Given the description of an element on the screen output the (x, y) to click on. 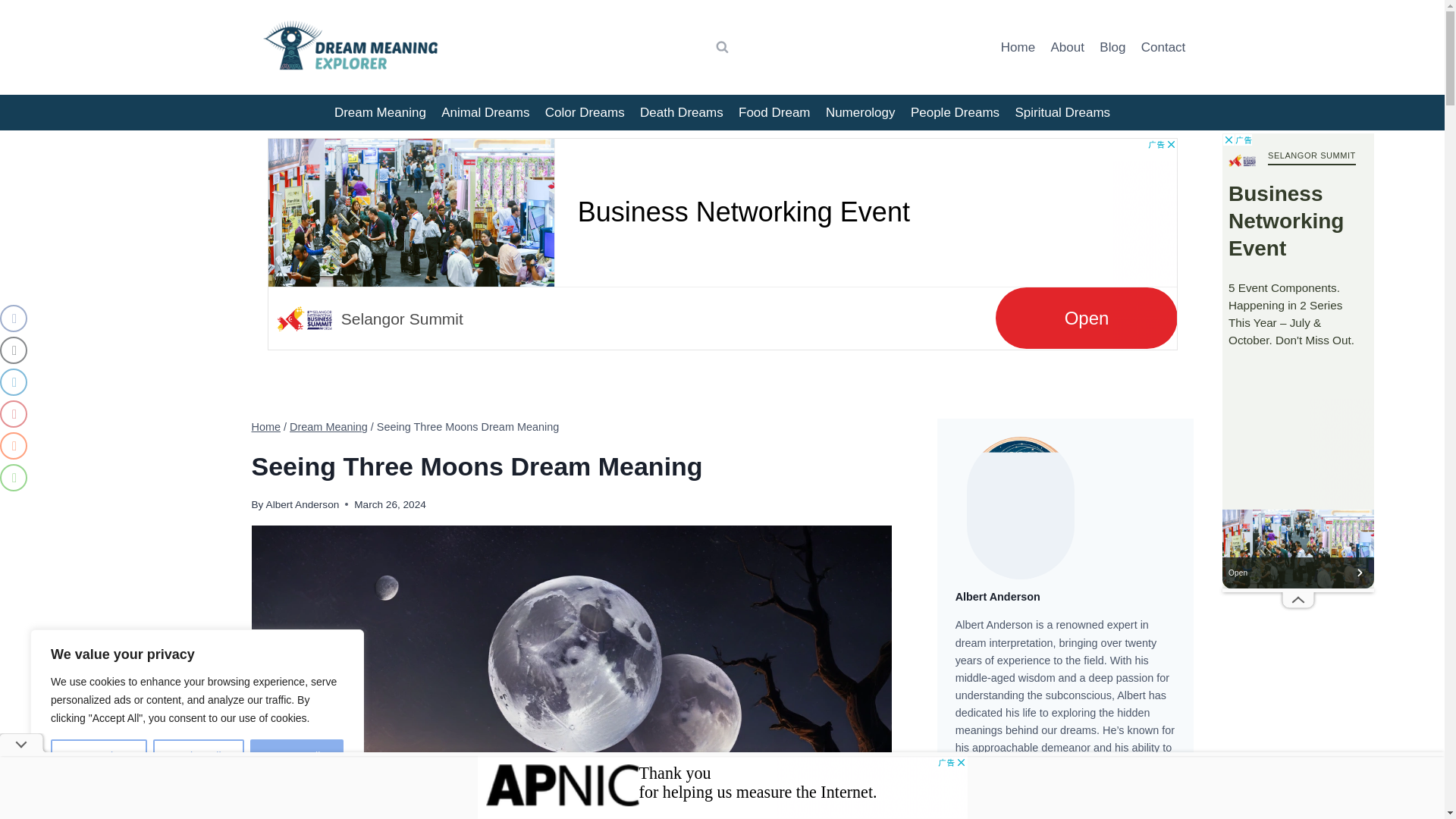
Spiritual Dreams (1062, 113)
About (1067, 47)
Animal Dreams (485, 113)
Home (1017, 47)
Color Dreams (584, 113)
Reject All (198, 756)
Dream Meaning (328, 426)
Food Dream (774, 113)
